Given the description of an element on the screen output the (x, y) to click on. 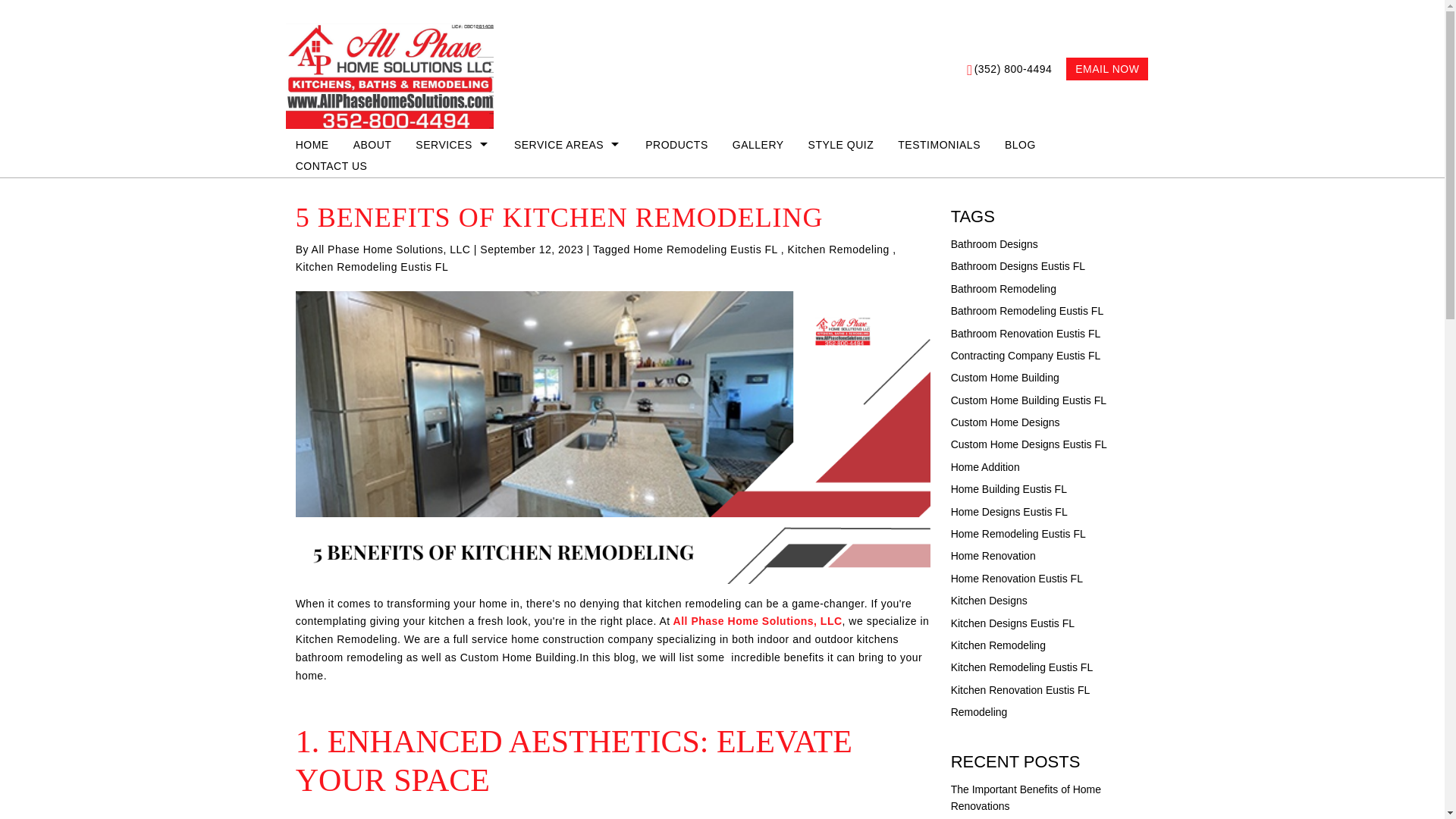
STYLE QUIZ (853, 144)
PRODUCTS (688, 144)
GALLERY (770, 144)
Kitchen Remodeling (838, 249)
EMAIL NOW (1106, 68)
Kitchen Remodeling Eustis FL (371, 266)
Home Remodeling Eustis FL (705, 249)
BLOG (1031, 144)
CONTACT US (343, 165)
TESTIMONIALS (951, 144)
